Given the description of an element on the screen output the (x, y) to click on. 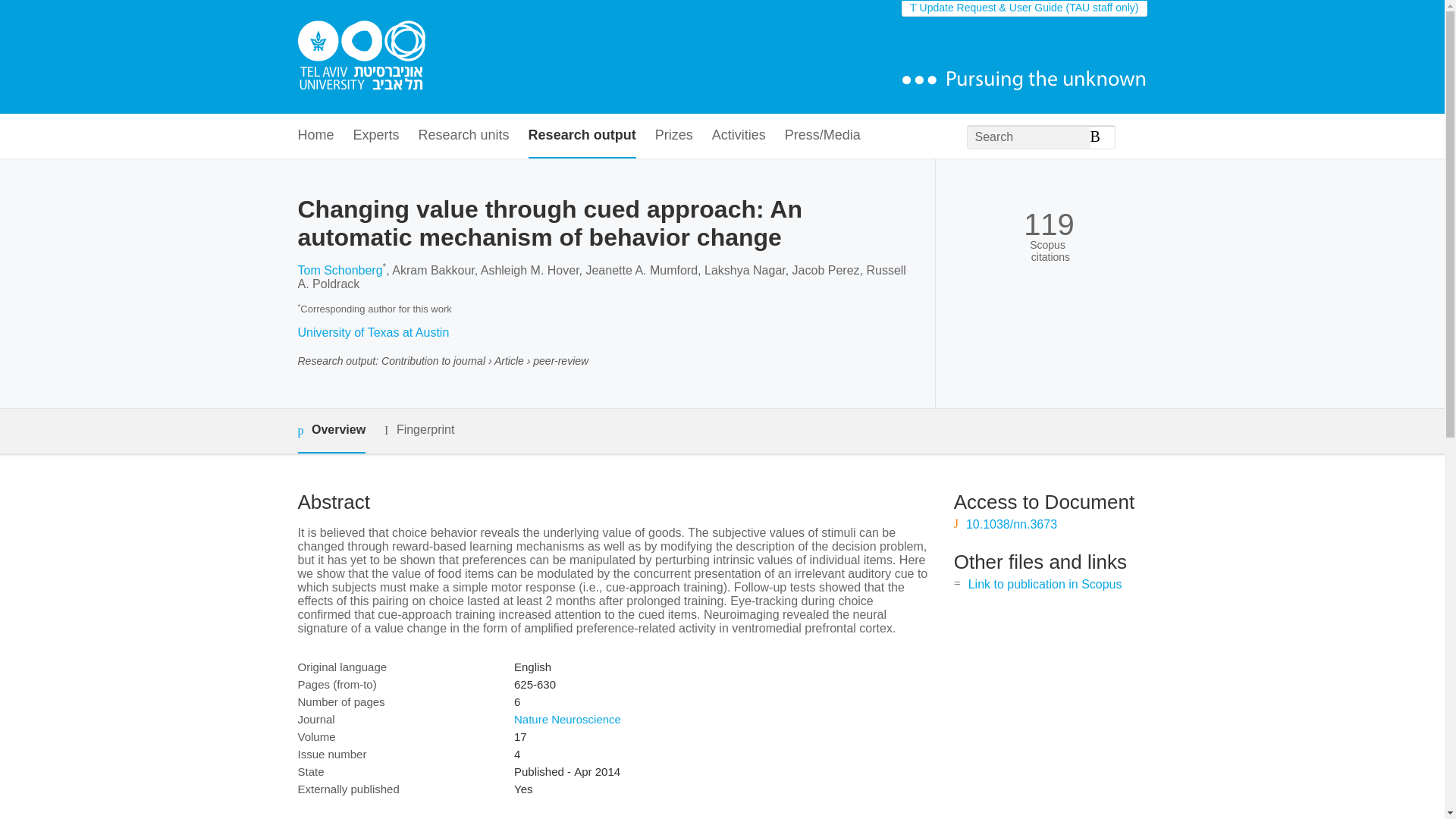
University of Texas at Austin (372, 332)
Link to publication in Scopus (1045, 584)
Activities (738, 135)
Nature Neuroscience (567, 718)
Tom Schonberg (339, 269)
Experts (375, 135)
Research output (582, 135)
Fingerprint (419, 430)
Tel Aviv University Home (361, 56)
